Given the description of an element on the screen output the (x, y) to click on. 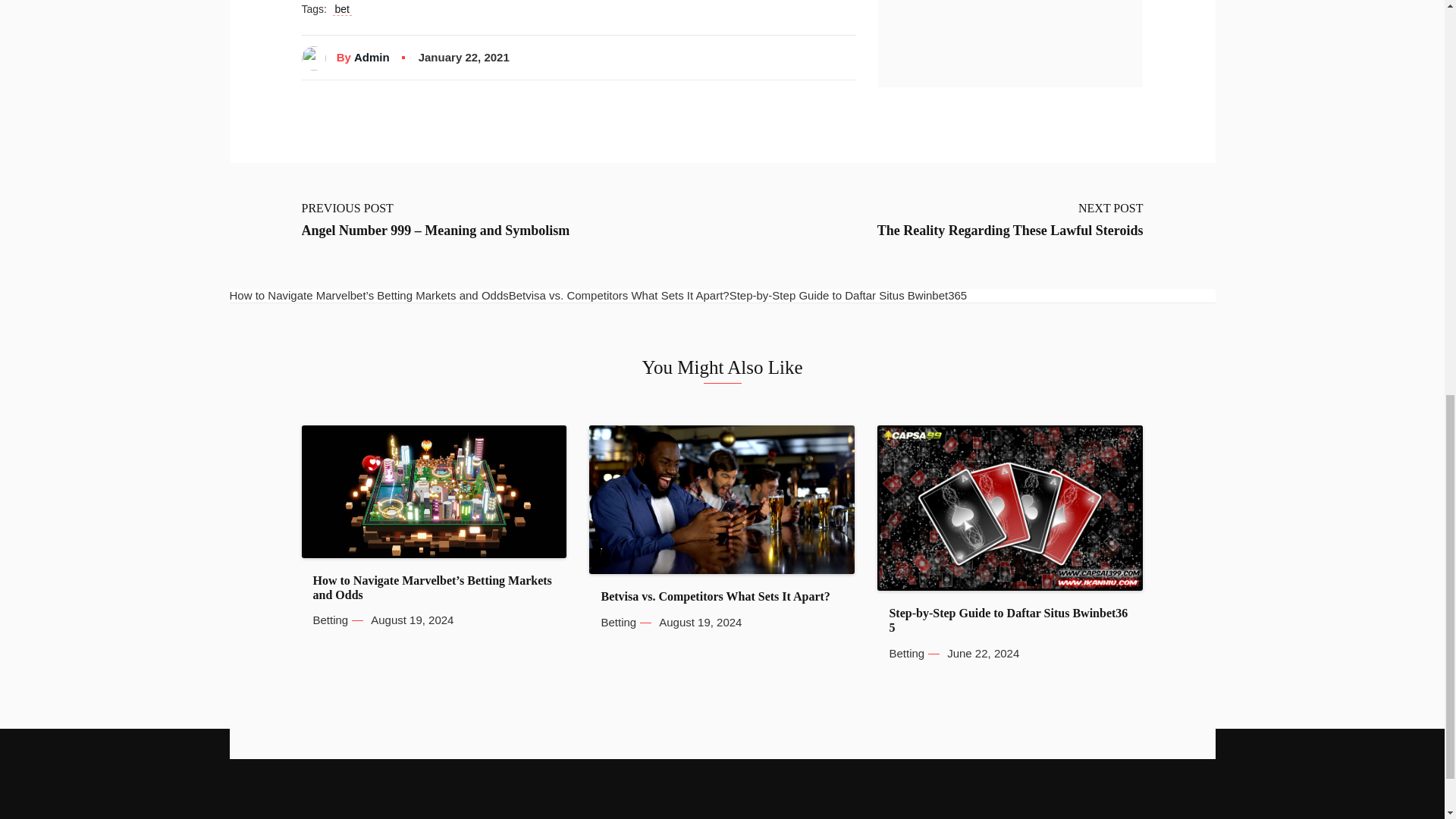
The Reality Regarding These Lawful Steroids (1009, 230)
bet (342, 9)
August 19, 2024 (411, 620)
Betting (330, 620)
Admin (371, 57)
